Given the description of an element on the screen output the (x, y) to click on. 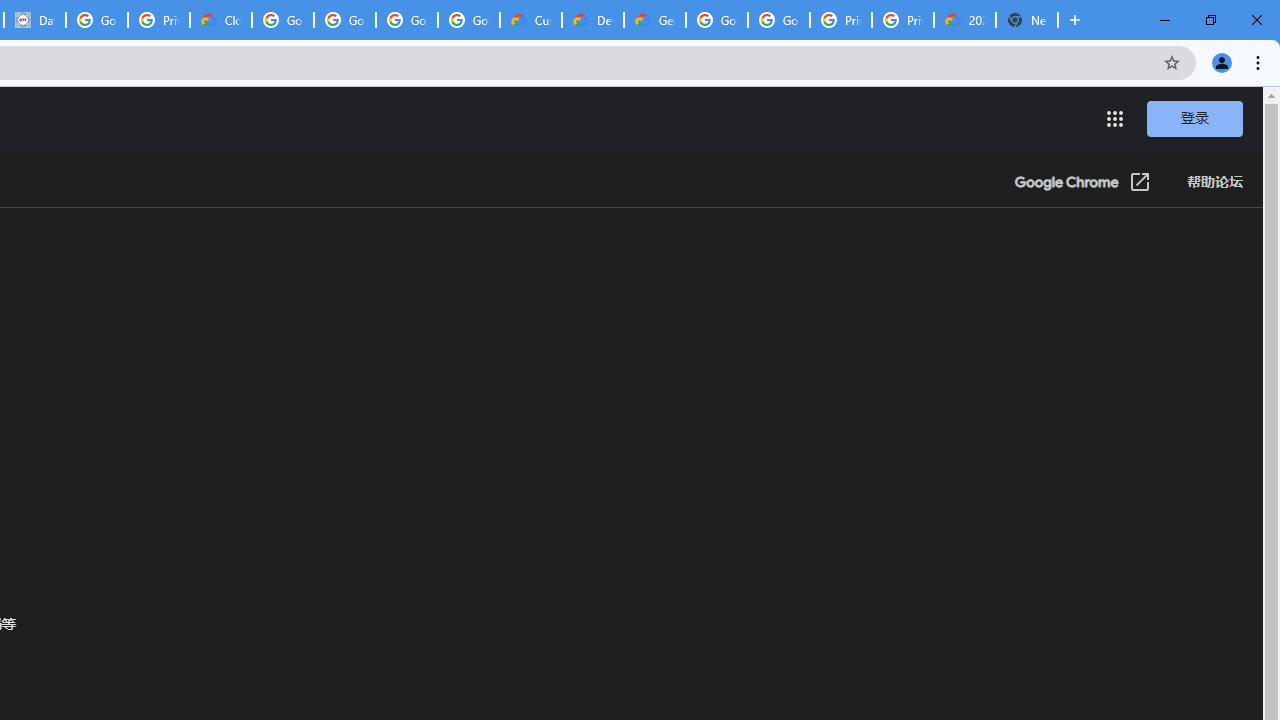
Google Workspace - Specific Terms (406, 20)
Gemini for Business and Developers | Google Cloud (654, 20)
Customer Care | Google Cloud (530, 20)
Cloud Data Processing Addendum | Google Cloud (220, 20)
